Given the description of an element on the screen output the (x, y) to click on. 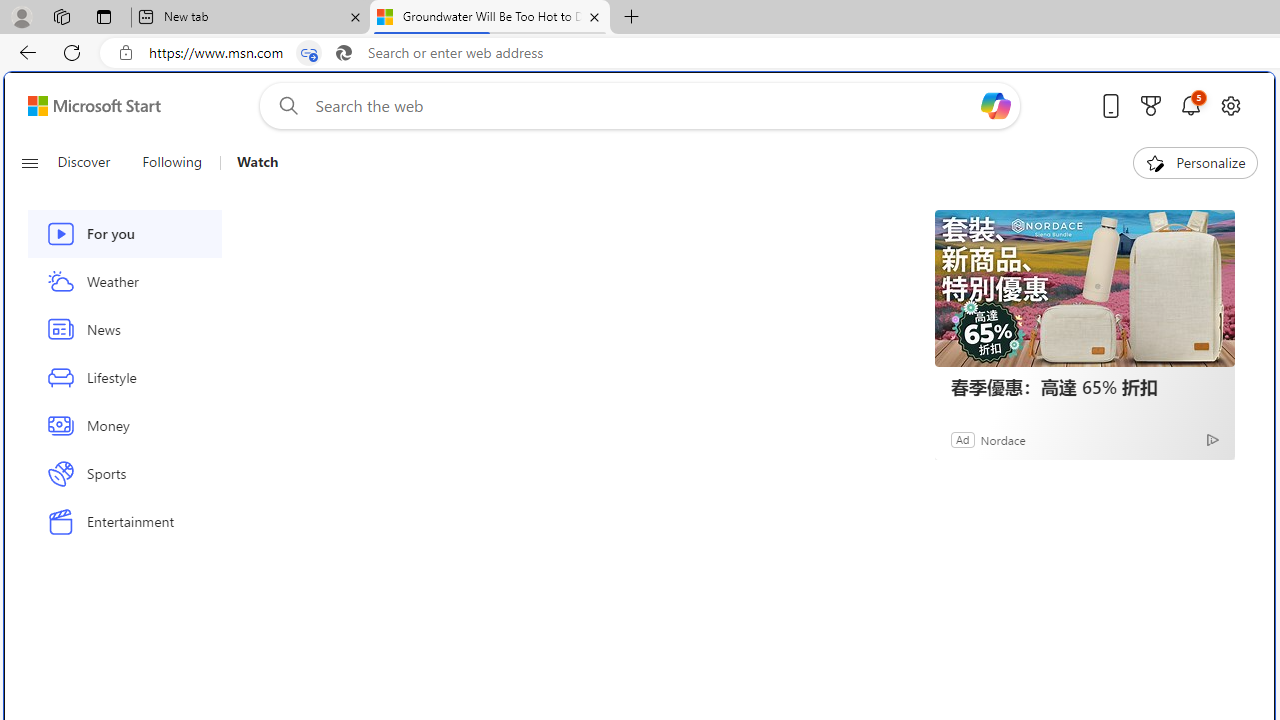
Tabs in split screen (308, 53)
Enter your search term (644, 106)
Personalize (1195, 162)
Open navigation menu (29, 162)
